Given the description of an element on the screen output the (x, y) to click on. 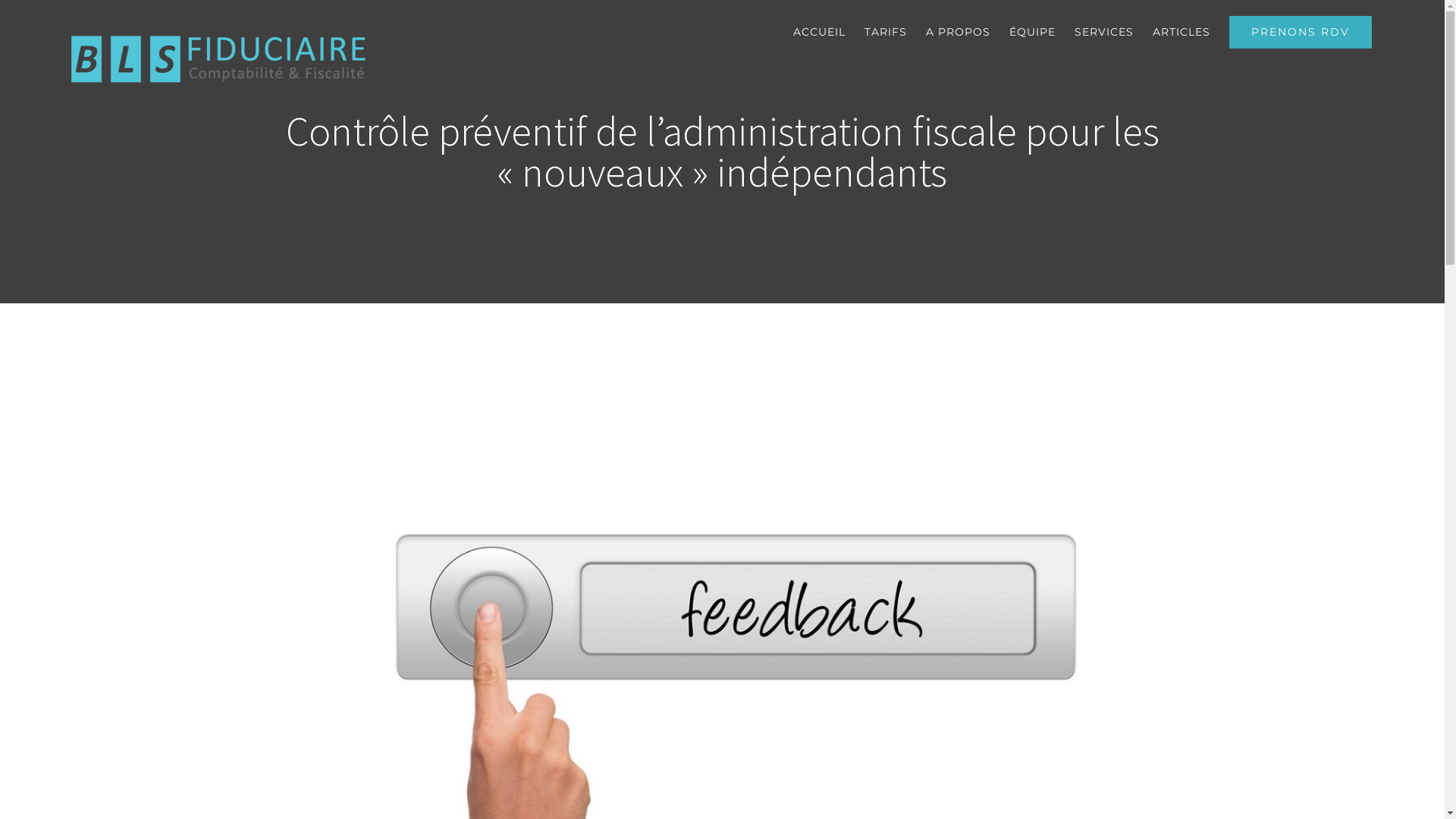
A PROPOS Element type: text (957, 31)
SERVICES Element type: text (1103, 31)
PRENONS RDV Element type: text (1300, 31)
ACCUEIL Element type: text (819, 31)
TARIFS Element type: text (885, 31)
ARTICLES Element type: text (1181, 31)
